Given the description of an element on the screen output the (x, y) to click on. 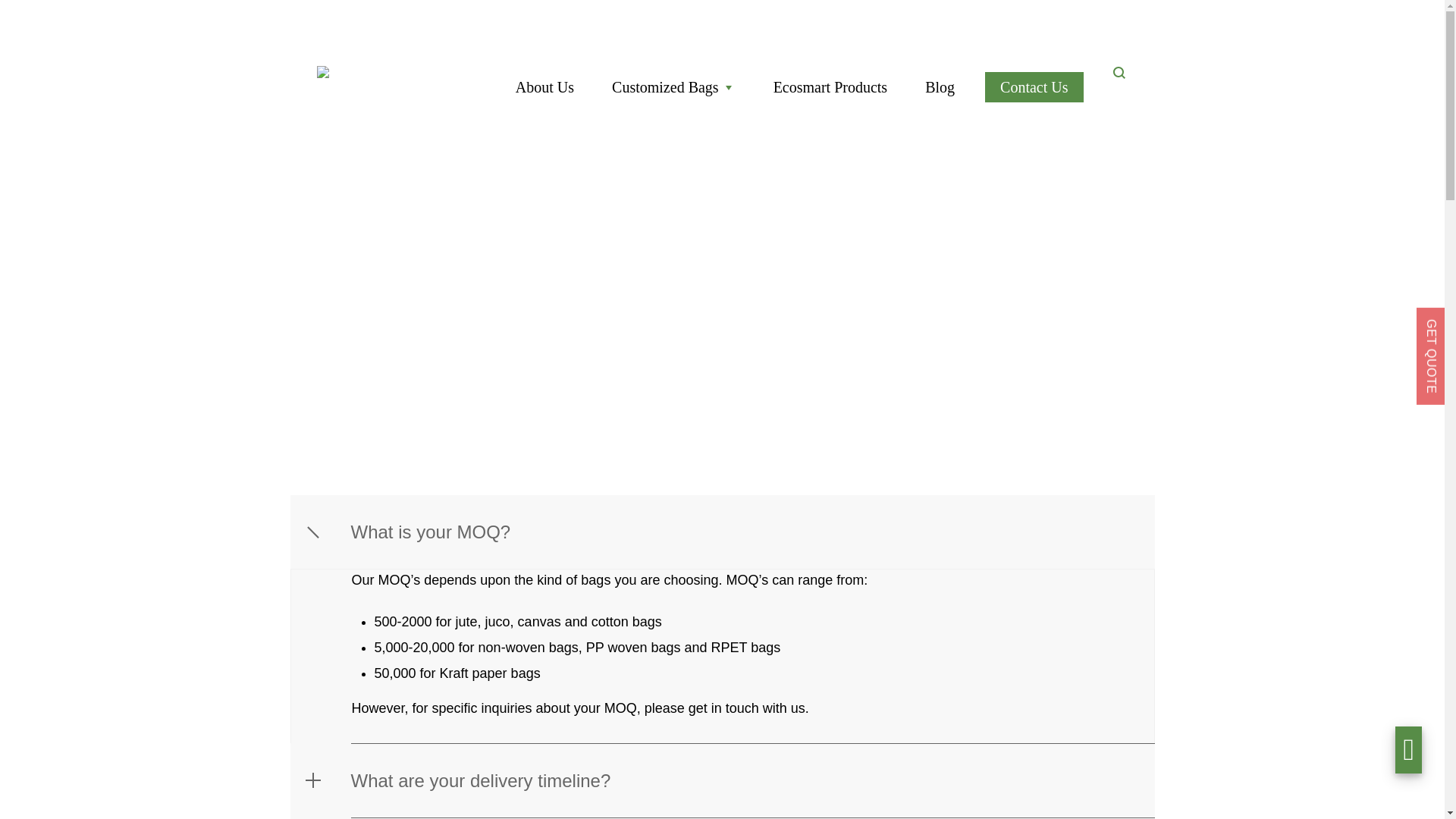
About Us (544, 87)
Customized Bags (673, 87)
Ecosmart Products (830, 87)
